Given the description of an element on the screen output the (x, y) to click on. 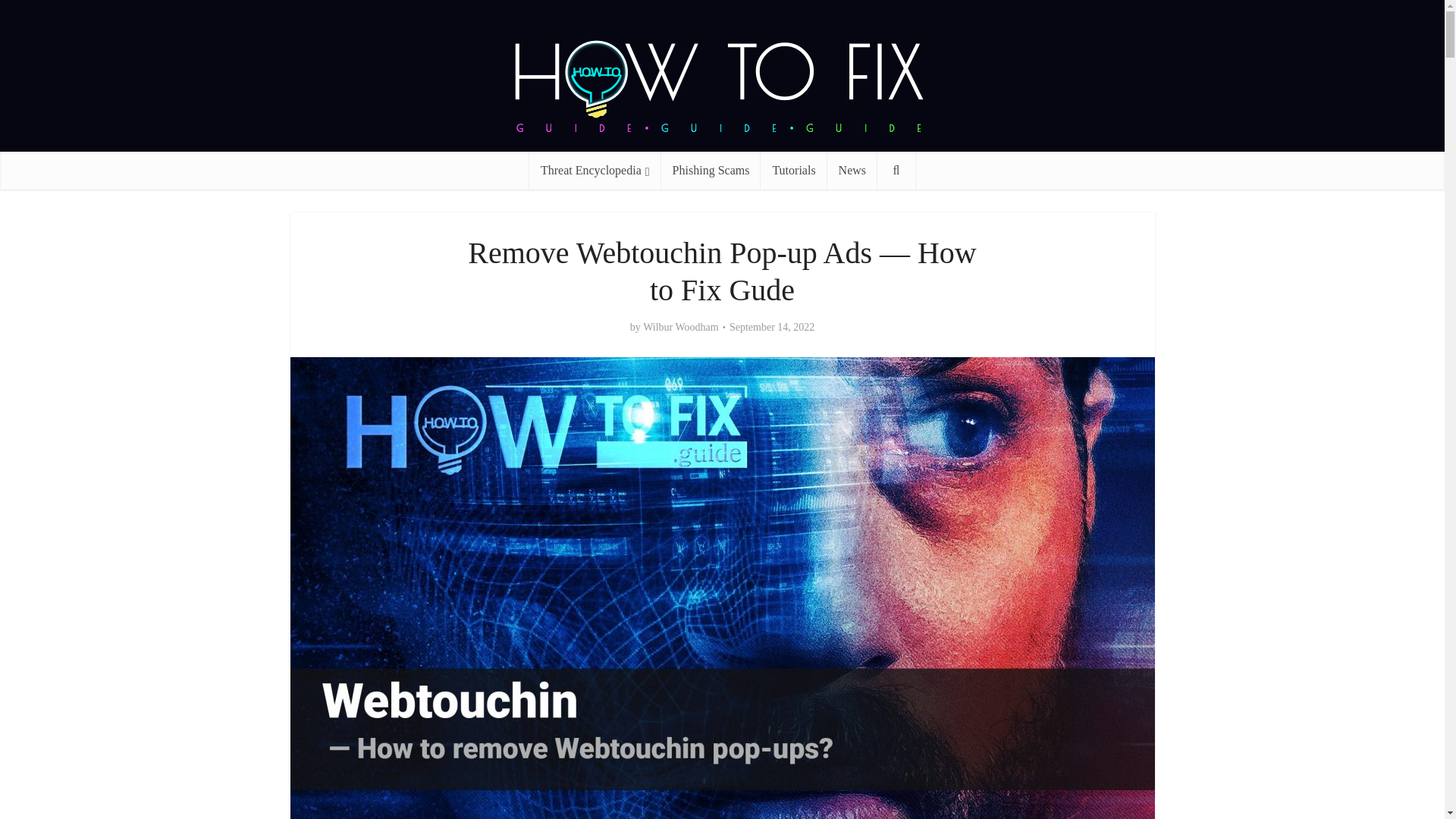
Threat Encyclopedia (595, 170)
Phishing Scams (711, 170)
Tutorials (793, 170)
News (852, 170)
Wilbur Woodham (681, 327)
